Given the description of an element on the screen output the (x, y) to click on. 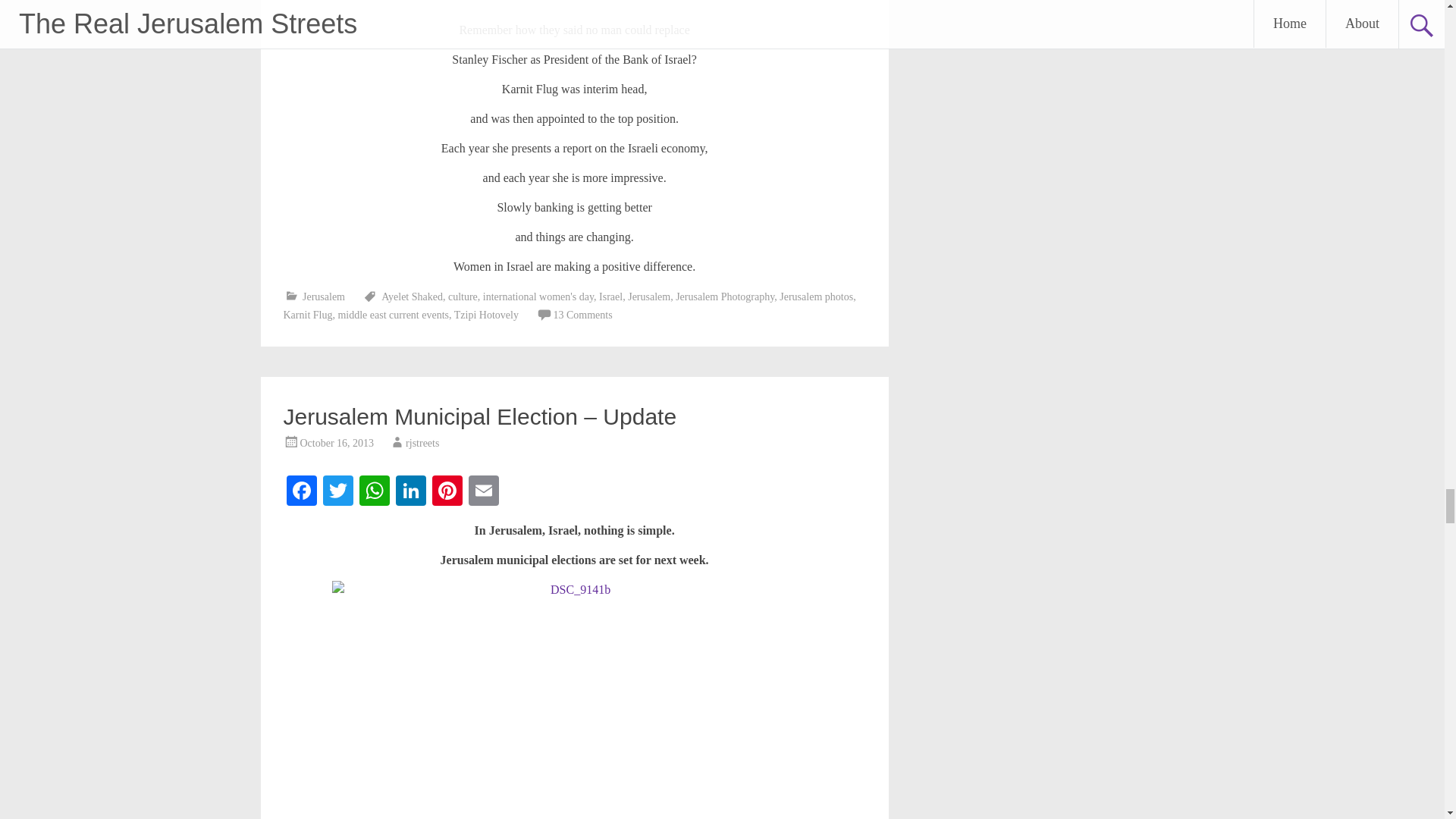
Facebook (301, 492)
